Given the description of an element on the screen output the (x, y) to click on. 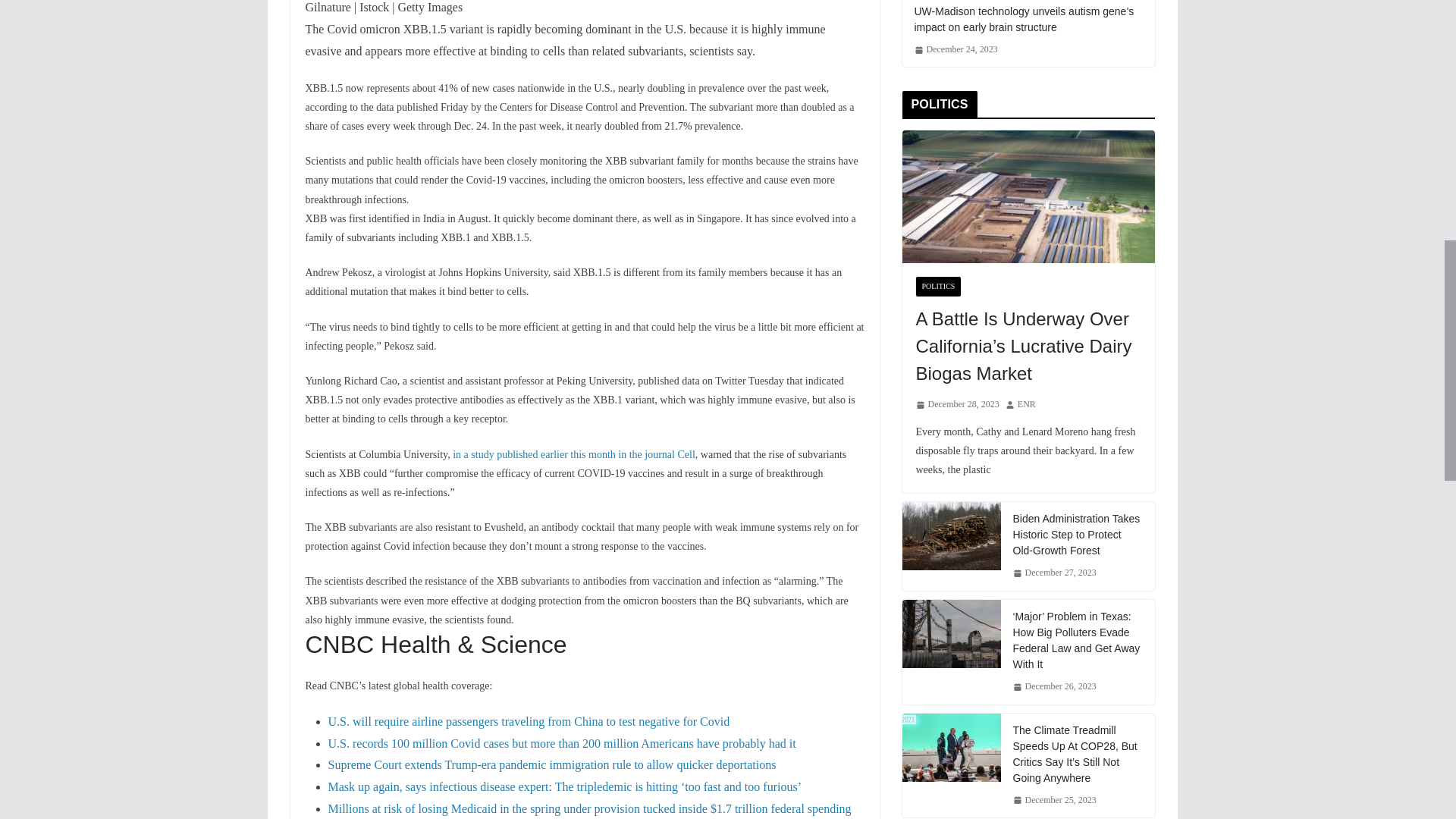
in a study published earlier this month in the journal Cell (573, 454)
